Given the description of an element on the screen output the (x, y) to click on. 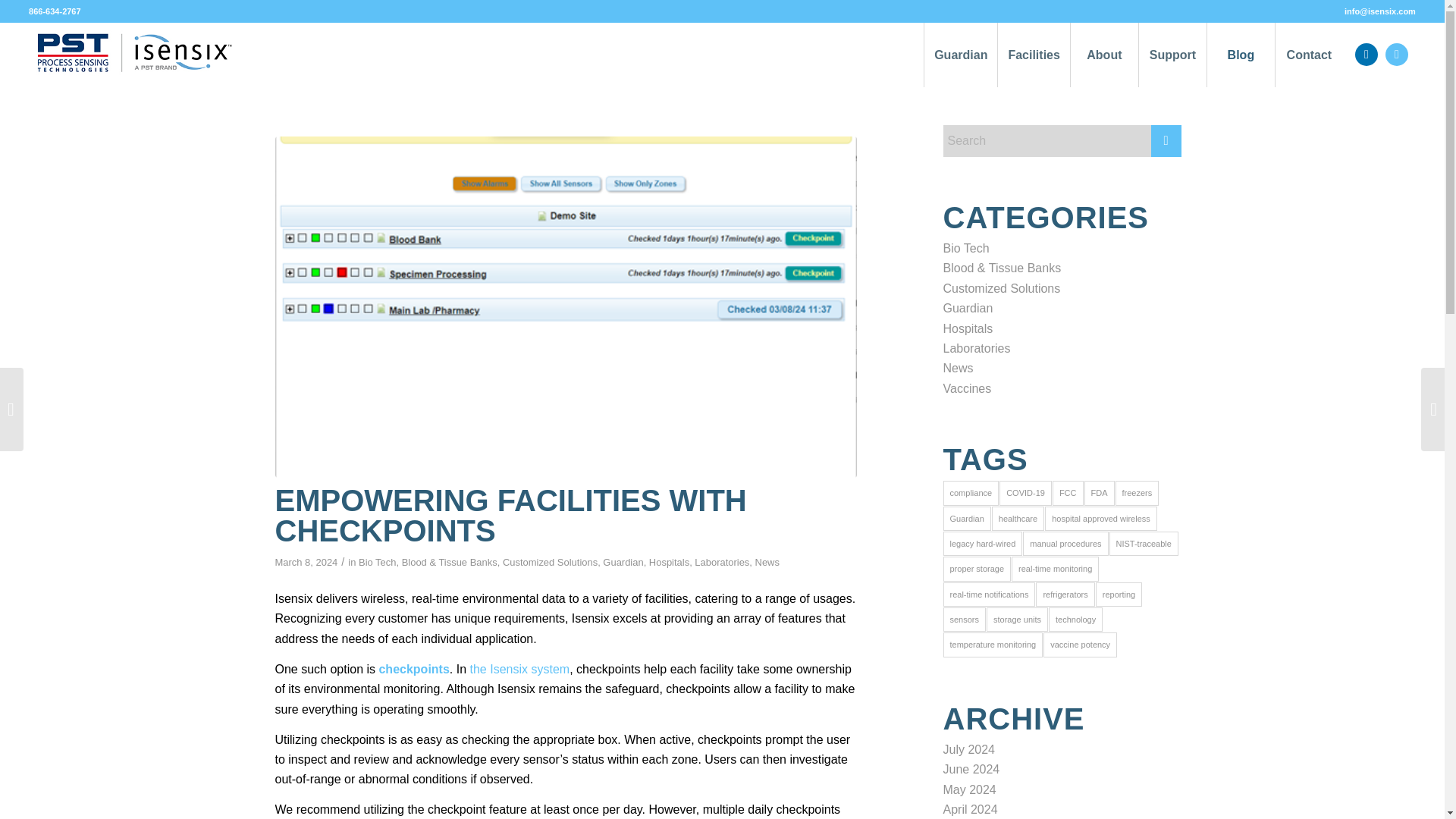
FDA (1099, 492)
Guardian (967, 308)
News (766, 562)
Customized Solutions (1002, 287)
Contact (1308, 54)
Click to start search (1165, 141)
Hospitals (967, 328)
LinkedIn (1366, 53)
FCC (1067, 492)
the Isensix system (520, 668)
